Given the description of an element on the screen output the (x, y) to click on. 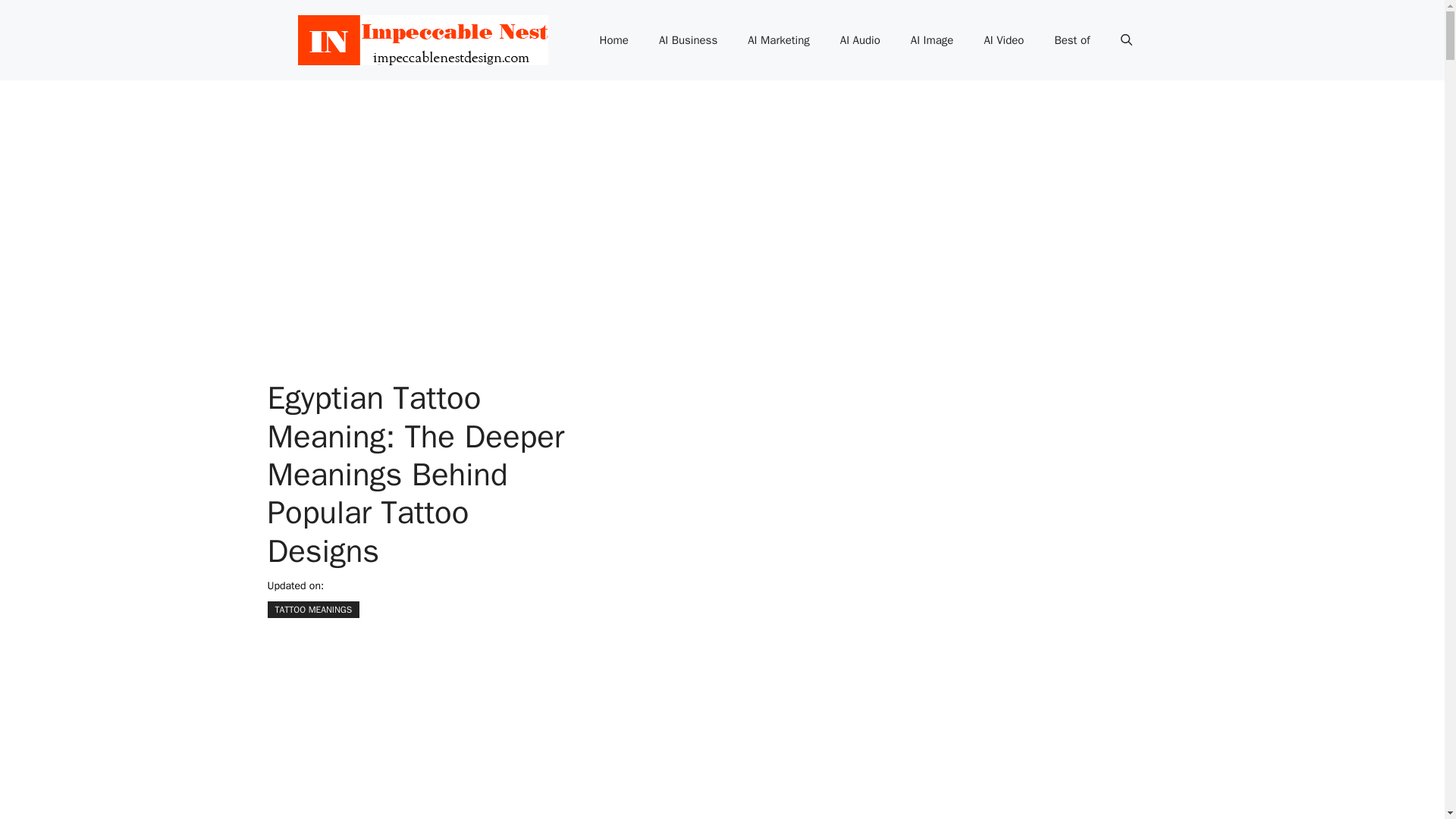
AI Marketing (778, 40)
Best of (1072, 40)
AI Business (687, 40)
AI Video (1003, 40)
Home (614, 40)
AI Audio (860, 40)
TATTOO MEANINGS (312, 609)
AI Image (932, 40)
